Given the description of an element on the screen output the (x, y) to click on. 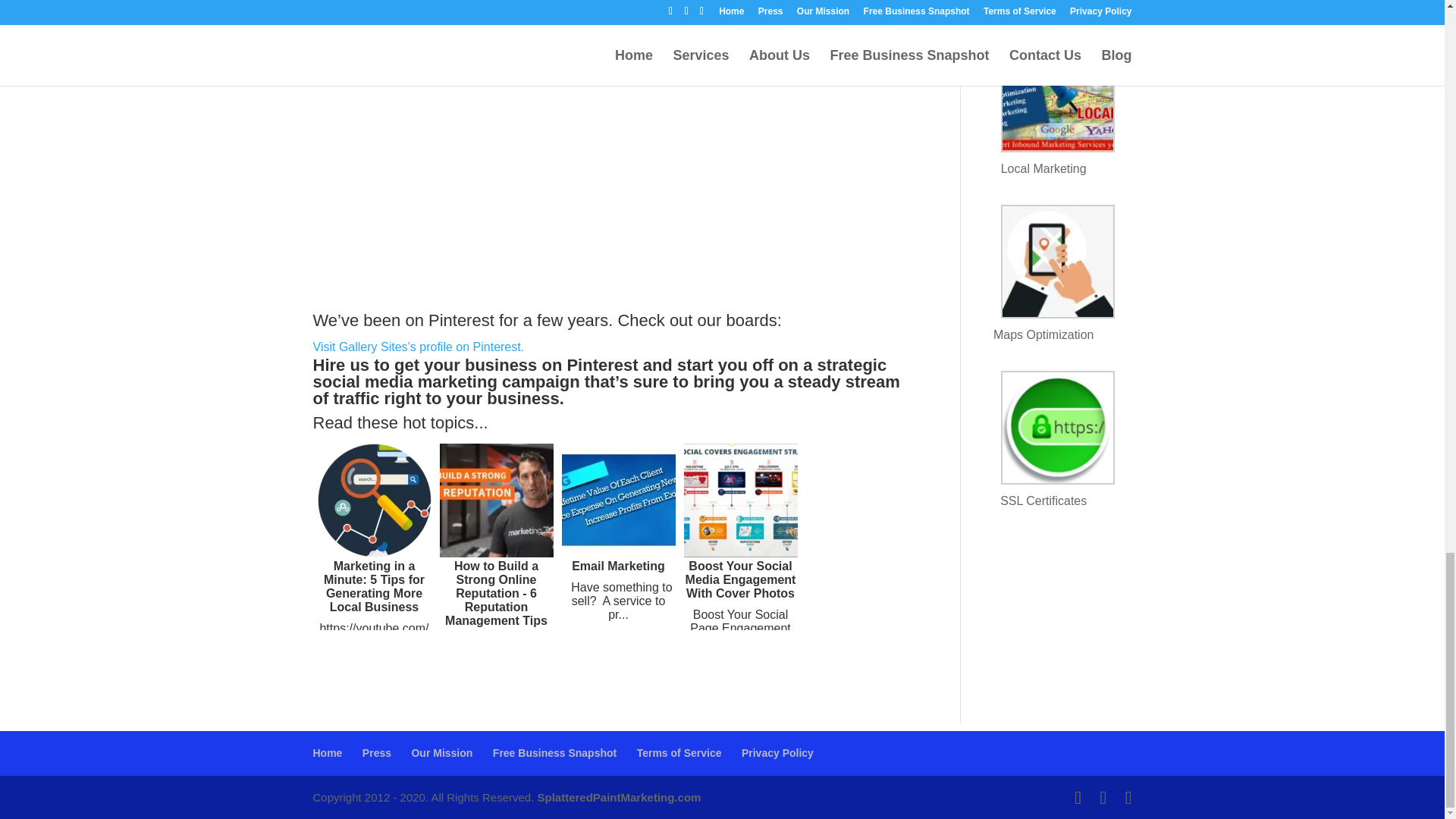
social media (362, 381)
Social Media (362, 381)
